Given the description of an element on the screen output the (x, y) to click on. 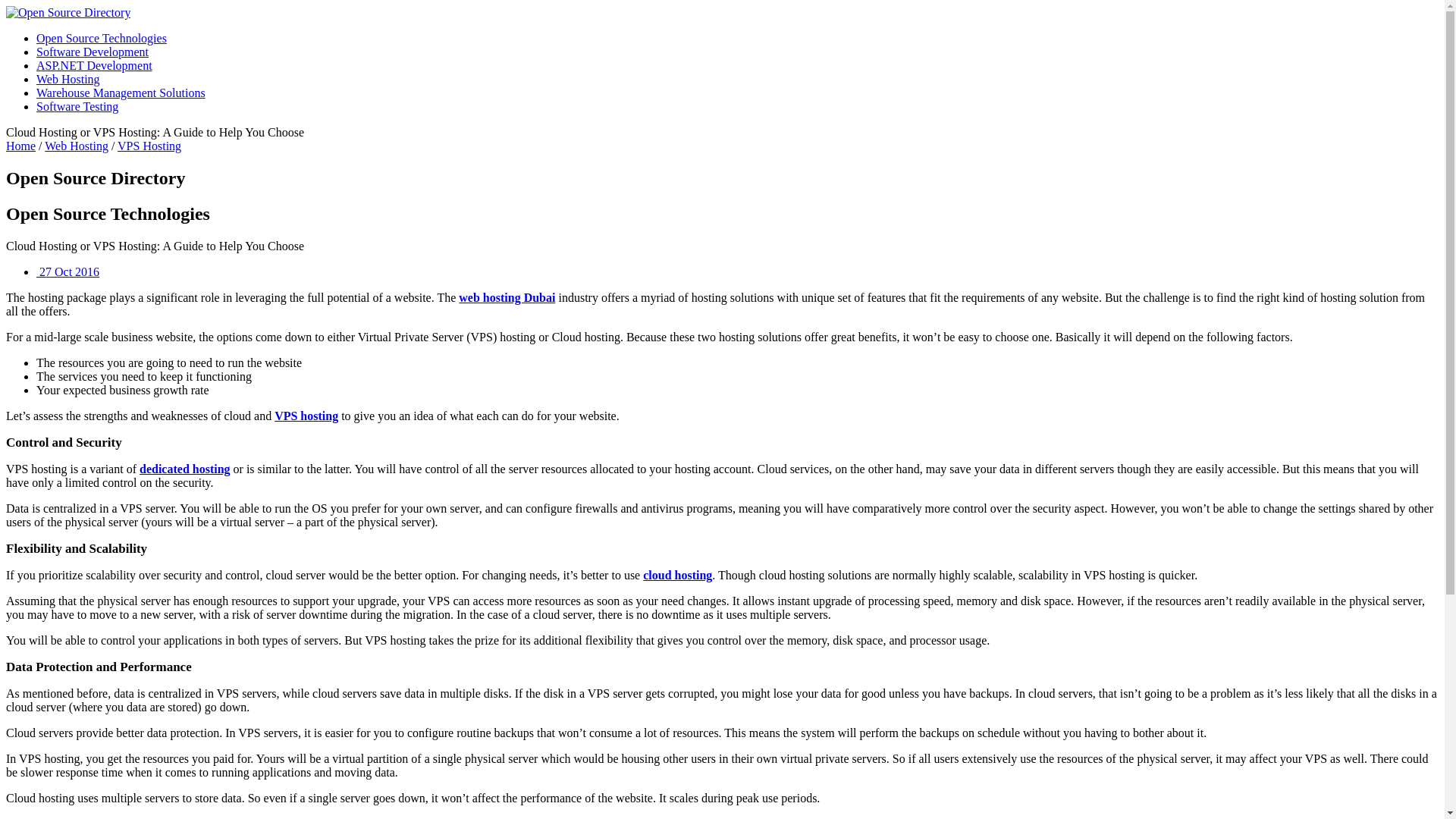
web hosting Dubai (506, 297)
Web Hosting (68, 78)
Software Development (92, 51)
dedicated hosting (184, 468)
Open Source Technologies (101, 38)
VPS Hosting (148, 145)
Web Hosting (76, 145)
VPS hosting (306, 415)
Software Testing (76, 106)
ASP.NET Development (94, 65)
